Given the description of an element on the screen output the (x, y) to click on. 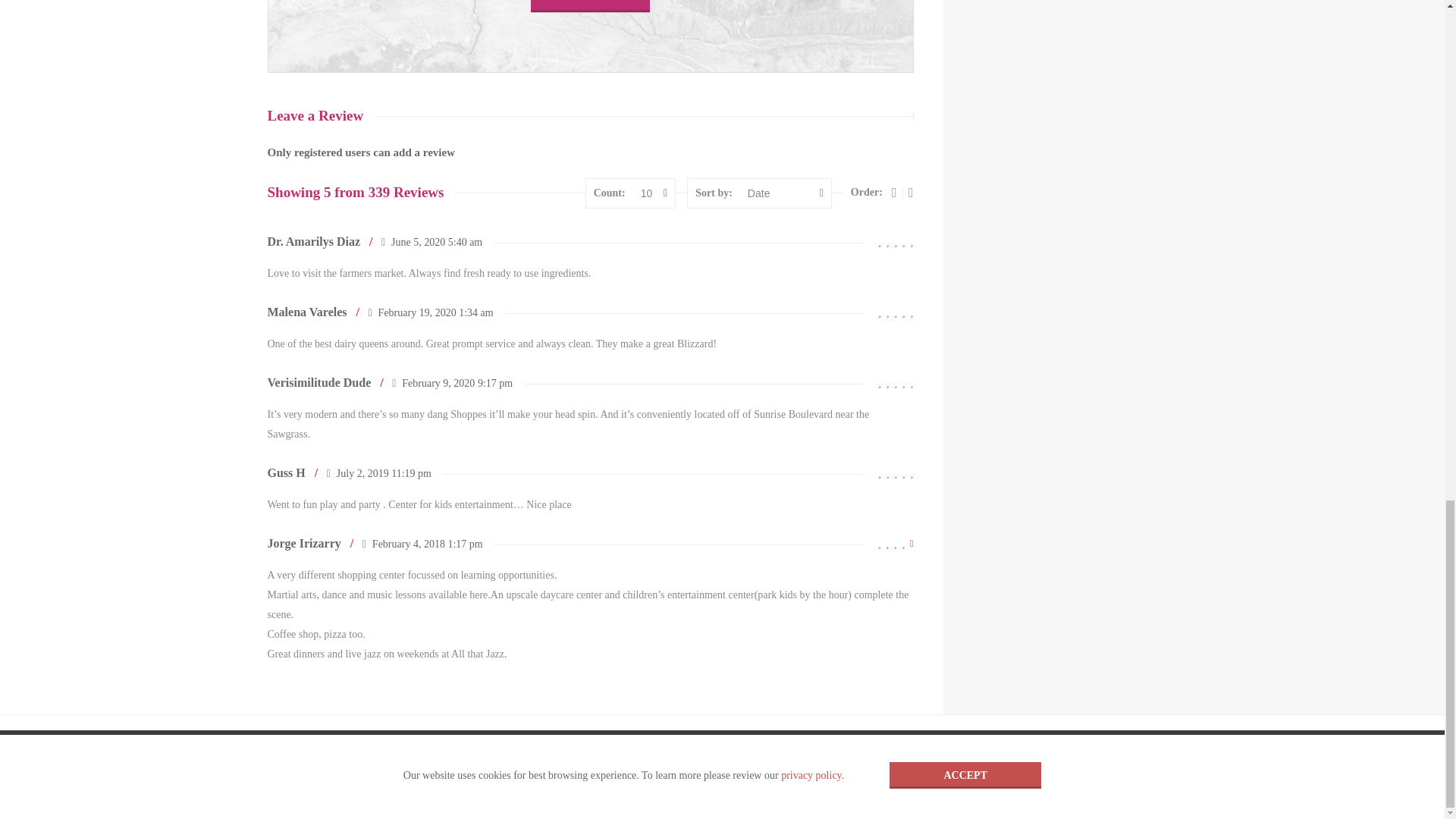
ASC (911, 192)
DESC (893, 192)
